Given the description of an element on the screen output the (x, y) to click on. 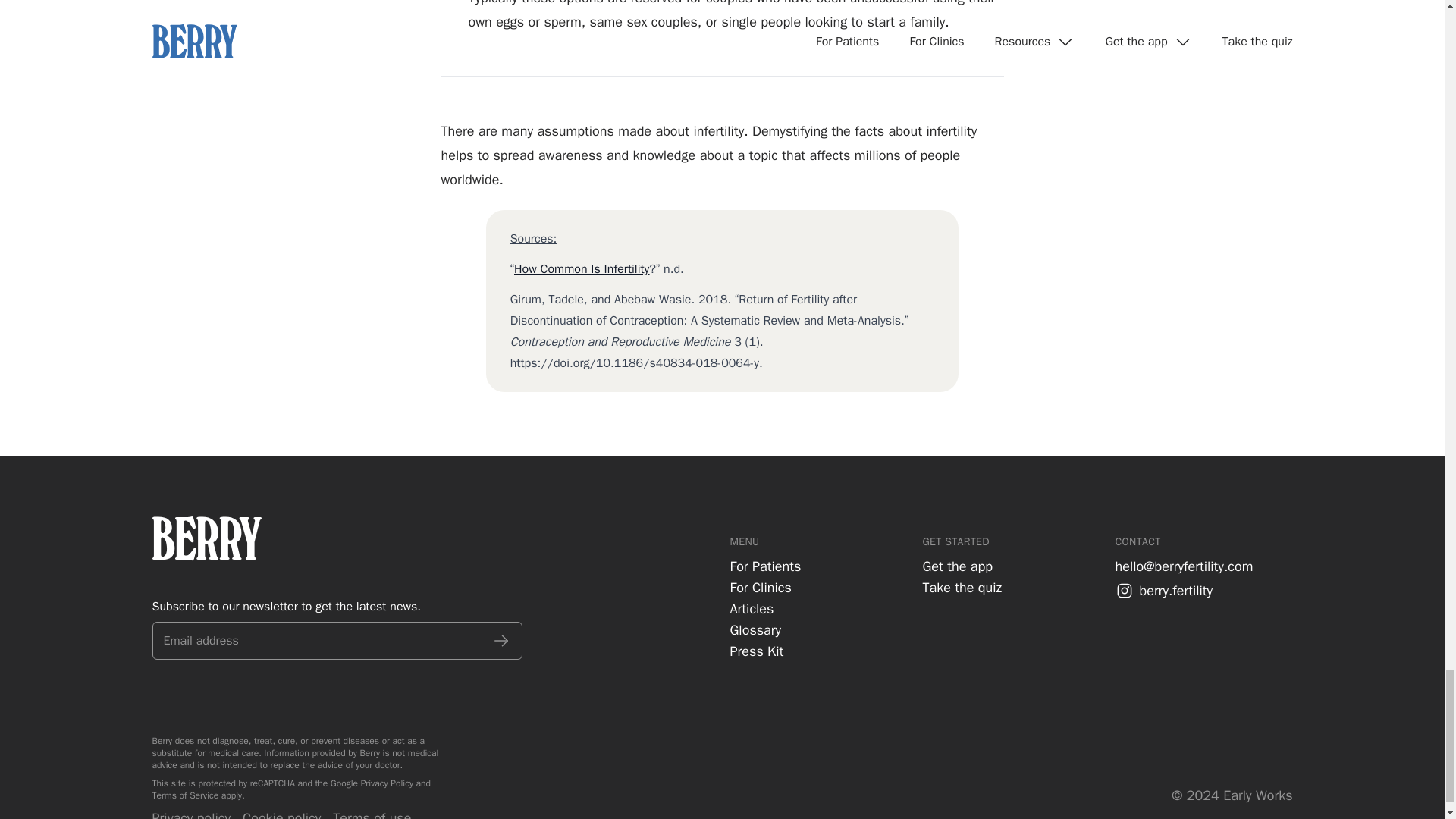
For Clinics (759, 587)
Take the quiz (961, 587)
For Patients (764, 565)
Press Kit (756, 651)
Articles (751, 608)
Get the app (956, 565)
Glossary (754, 629)
Submit Button (500, 640)
How Common Is Infertility (581, 268)
